Given the description of an element on the screen output the (x, y) to click on. 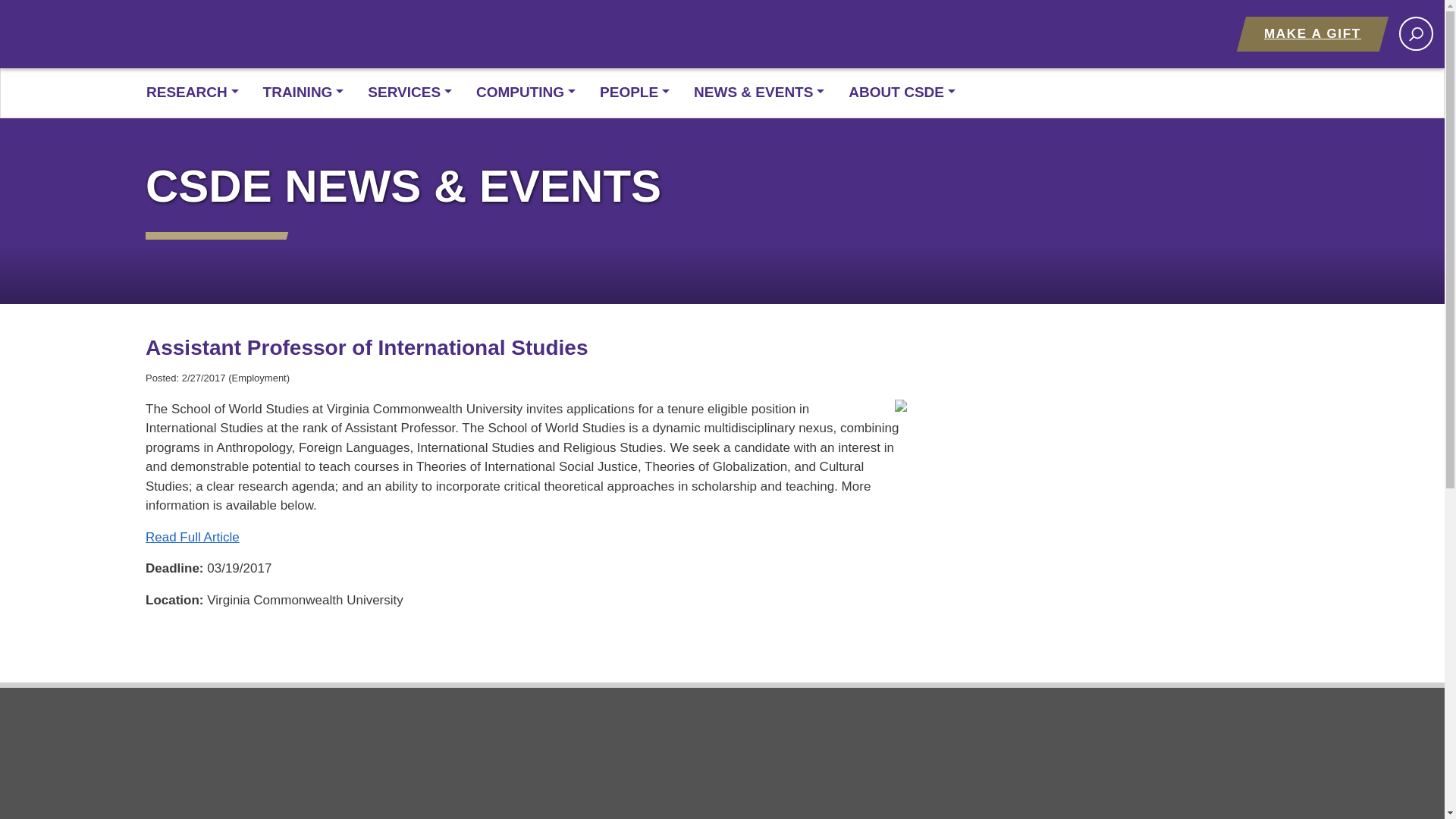
Center for Studies in Demography and Ecology Home (497, 46)
University of Washington Home (194, 33)
